Given the description of an element on the screen output the (x, y) to click on. 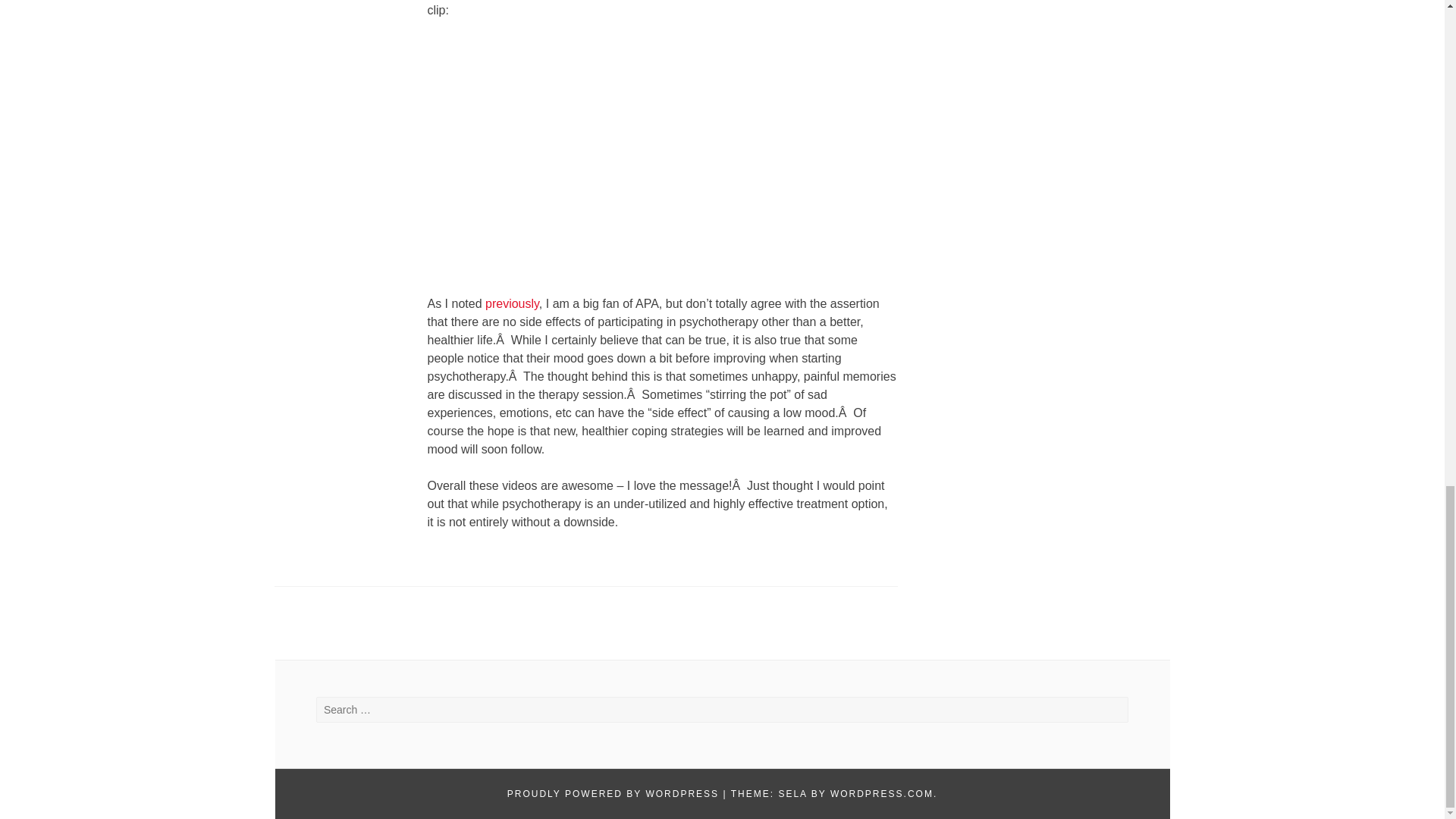
A Semantic Personal Publishing Platform (612, 793)
PROUDLY POWERED BY WORDPRESS (612, 793)
WORDPRESS.COM (881, 793)
previously (511, 303)
